Given the description of an element on the screen output the (x, y) to click on. 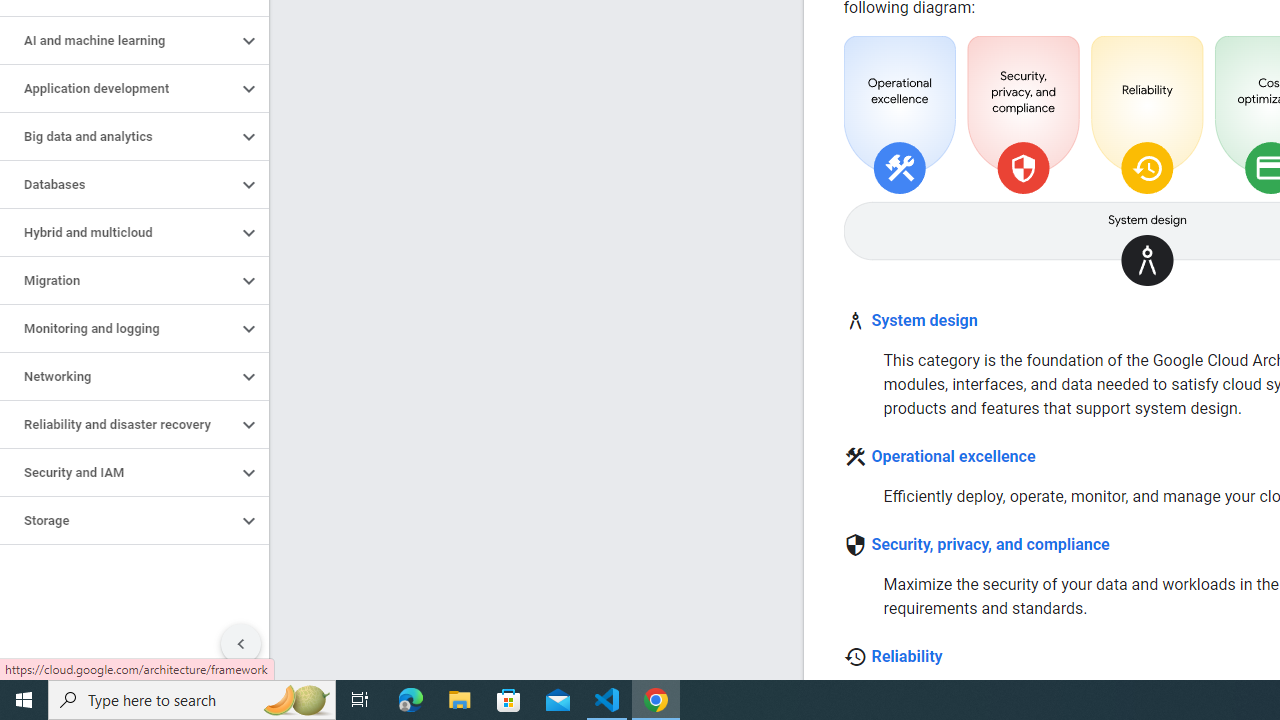
Databases (118, 184)
System design (923, 321)
